Given the description of an element on the screen output the (x, y) to click on. 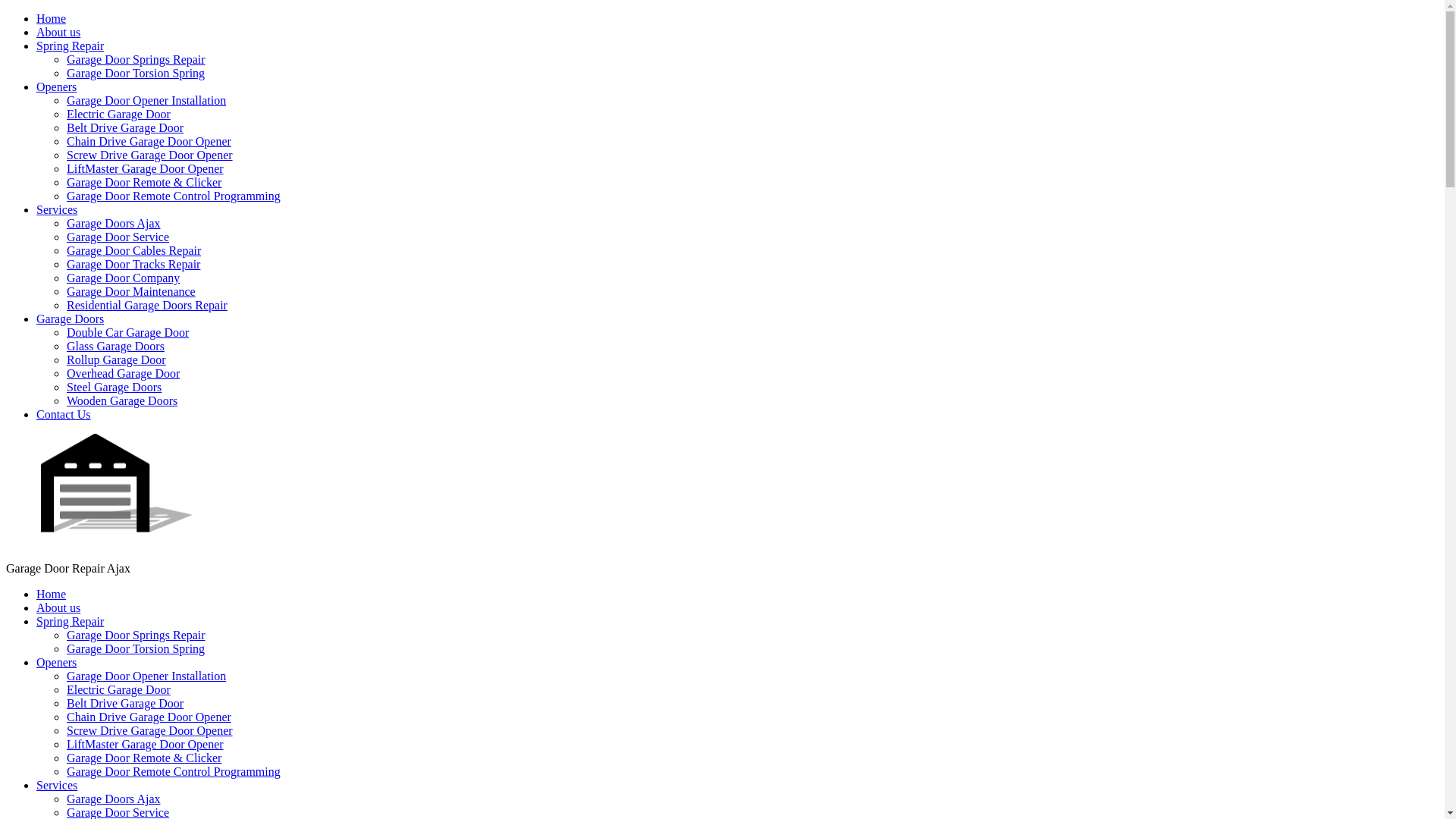
Garage Door Maintenance Element type: text (130, 291)
Electric Garage Door Element type: text (118, 113)
Openers Element type: text (56, 86)
Garage Doors Ajax Element type: text (113, 222)
Garage Doors Ajax Element type: text (113, 798)
Openers Element type: text (56, 661)
LiftMaster Garage Door Opener Element type: text (144, 168)
Belt Drive Garage Door Element type: text (124, 127)
Chain Drive Garage Door Opener Element type: text (148, 716)
About us Element type: text (58, 31)
Garage Door Service Element type: text (117, 236)
Garage Doors Element type: text (69, 318)
Garage Door Opener Installation Element type: text (145, 675)
Glass Garage Doors Element type: text (115, 345)
Chain Drive Garage Door Opener Element type: text (148, 140)
Overhead Garage Door Element type: text (122, 373)
Screw Drive Garage Door Opener Element type: text (149, 154)
Screw Drive Garage Door Opener Element type: text (149, 730)
Double Car Garage Door Element type: text (127, 332)
Residential Garage Doors Repair Element type: text (146, 304)
Home Element type: text (50, 18)
Garage Door Remote & Clicker Element type: text (143, 757)
Electric Garage Door Element type: text (118, 689)
Contact Us Element type: text (63, 413)
Garage Door Torsion Spring Element type: text (135, 648)
Home Element type: text (50, 593)
Garage Door Springs Repair Element type: text (135, 59)
Steel Garage Doors Element type: text (113, 386)
Garage Door Company Element type: text (122, 277)
Garage Door Remote Control Programming Element type: text (173, 771)
About us Element type: text (58, 607)
Garage Door Springs Repair Element type: text (135, 634)
Garage Door Remote & Clicker Element type: text (143, 181)
Belt Drive Garage Door Element type: text (124, 702)
Rollup Garage Door Element type: text (116, 359)
LiftMaster Garage Door Opener Element type: text (144, 743)
Garage Door Opener Installation Element type: text (145, 100)
Garage Door Tracks Repair Element type: text (133, 263)
Services Element type: text (56, 209)
Services Element type: text (56, 784)
Spring Repair Element type: text (69, 45)
Wooden Garage Doors Element type: text (121, 400)
Garage Door Remote Control Programming Element type: text (173, 195)
Garage Door Torsion Spring Element type: text (135, 72)
Spring Repair Element type: text (69, 621)
Garage Door Cables Repair Element type: text (133, 250)
